Given the description of an element on the screen output the (x, y) to click on. 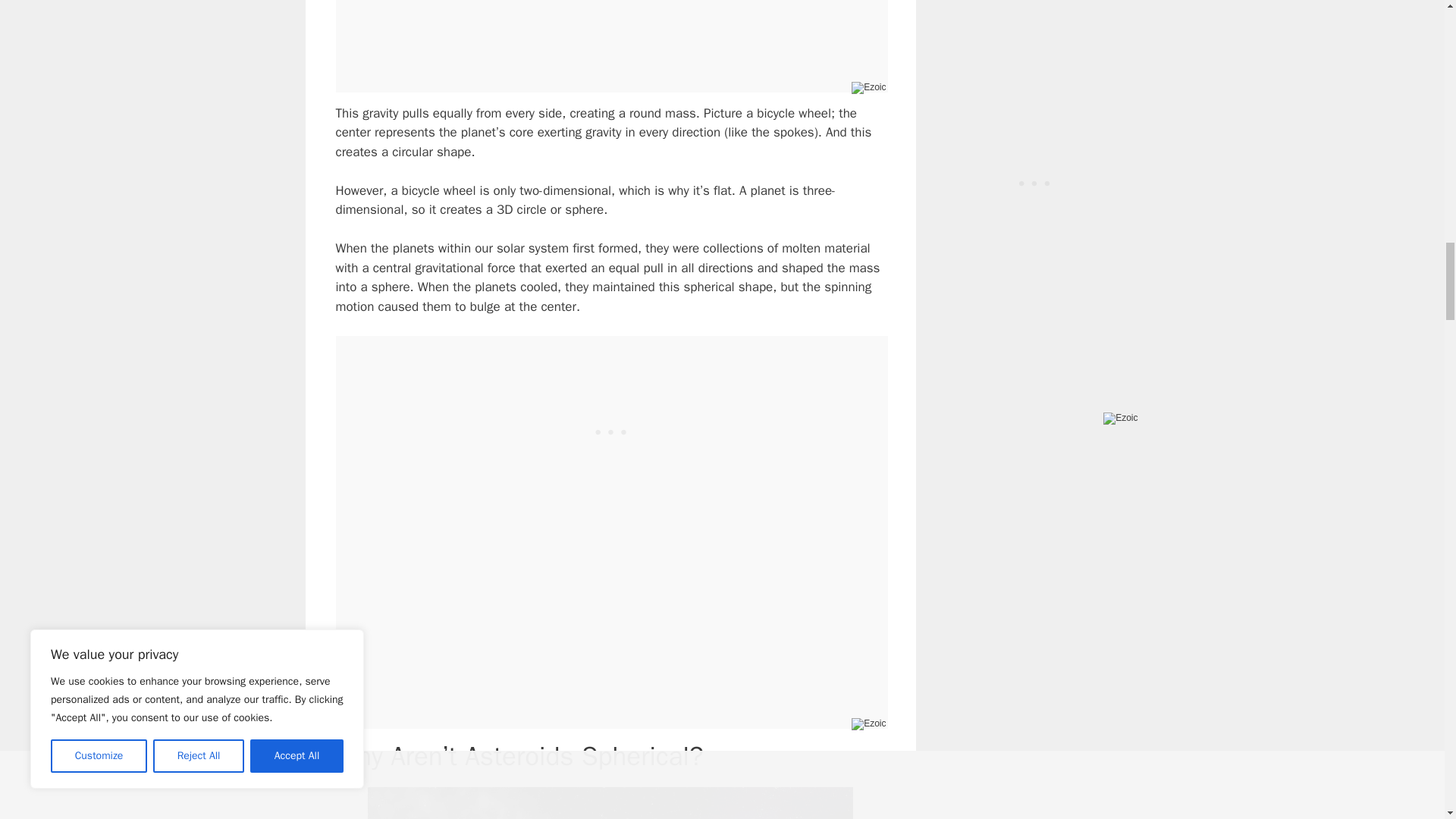
ezoic (868, 87)
ezoic (1120, 418)
ezoic (868, 724)
